Given the description of an element on the screen output the (x, y) to click on. 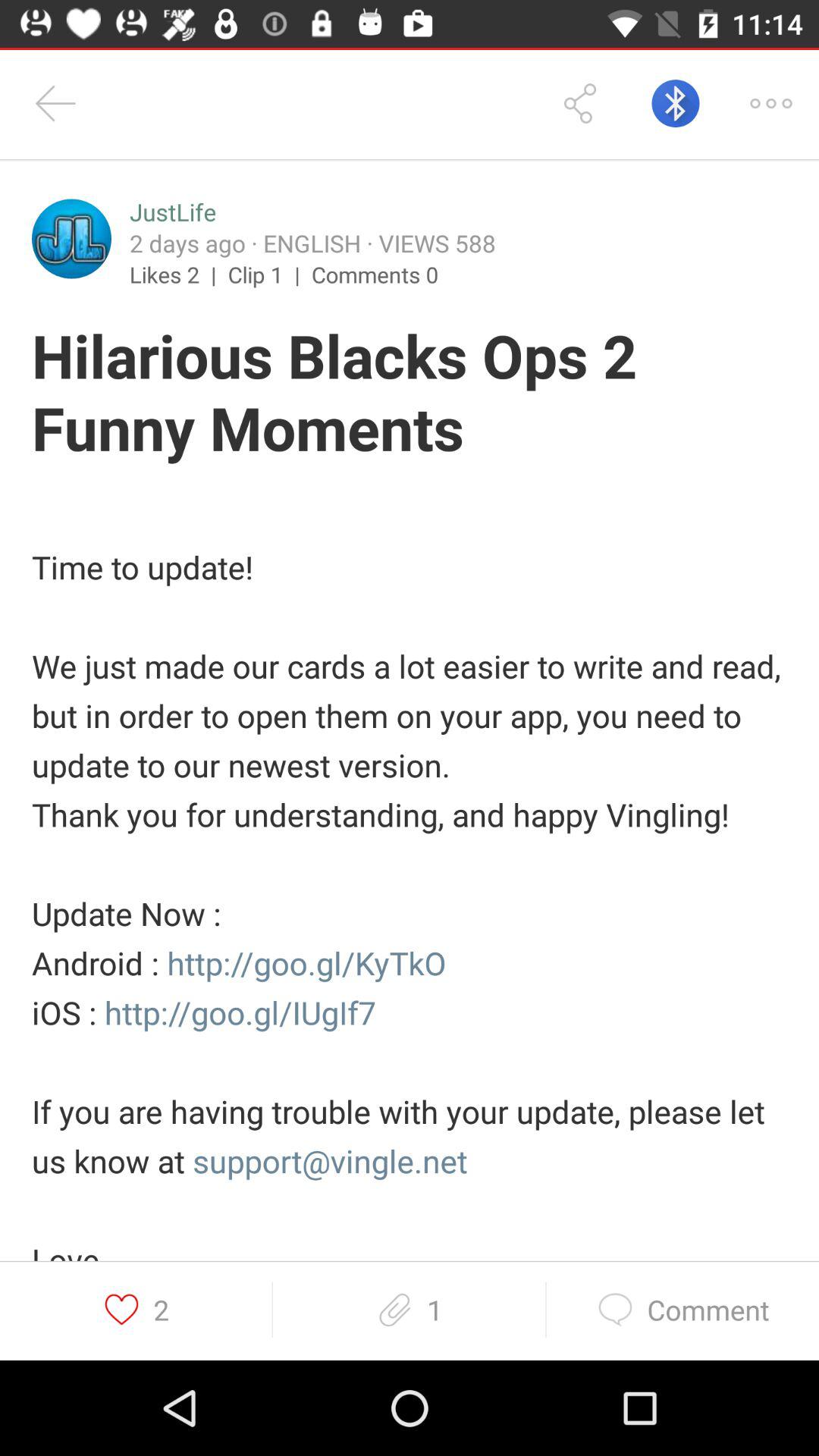
choose item next to the likes 2  |   icon (269, 274)
